Given the description of an element on the screen output the (x, y) to click on. 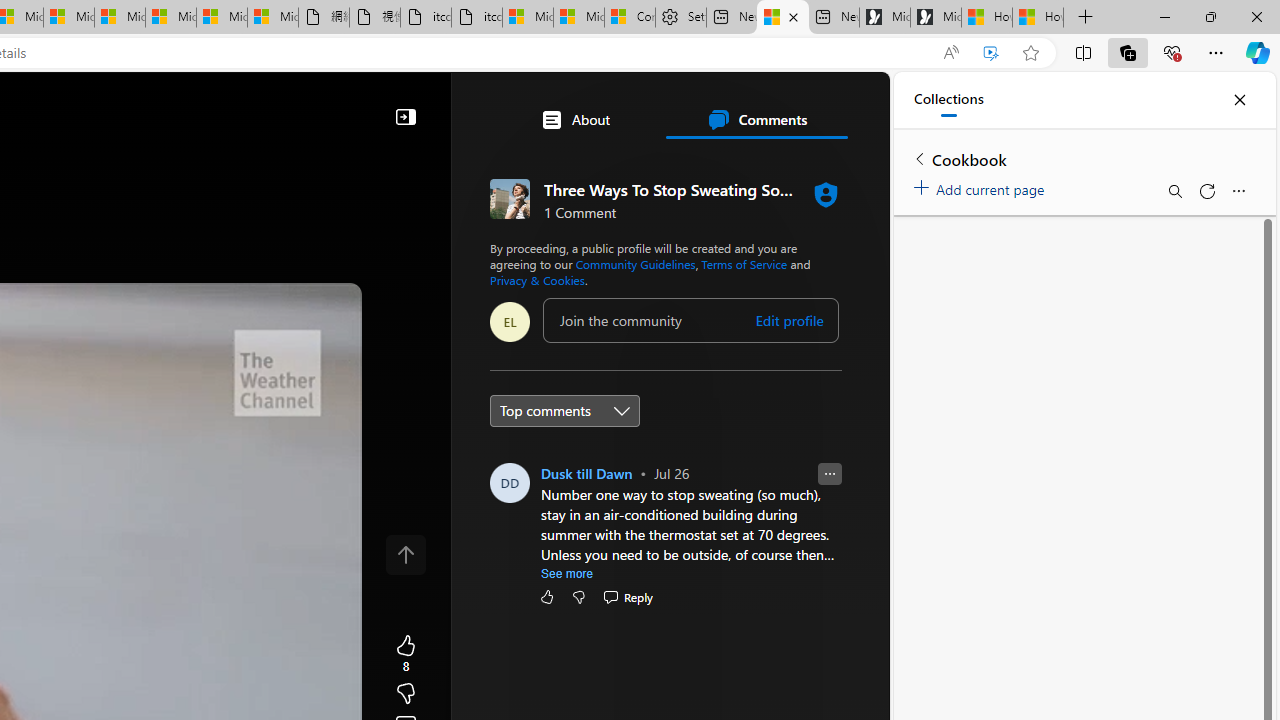
Dusk till Dawn (587, 473)
Community Guidelines (635, 264)
Sort comments by (565, 410)
Ad Choice (822, 439)
Microsoft Services Agreement (68, 17)
More options menu (1238, 190)
Edit profile (789, 321)
